Given the description of an element on the screen output the (x, y) to click on. 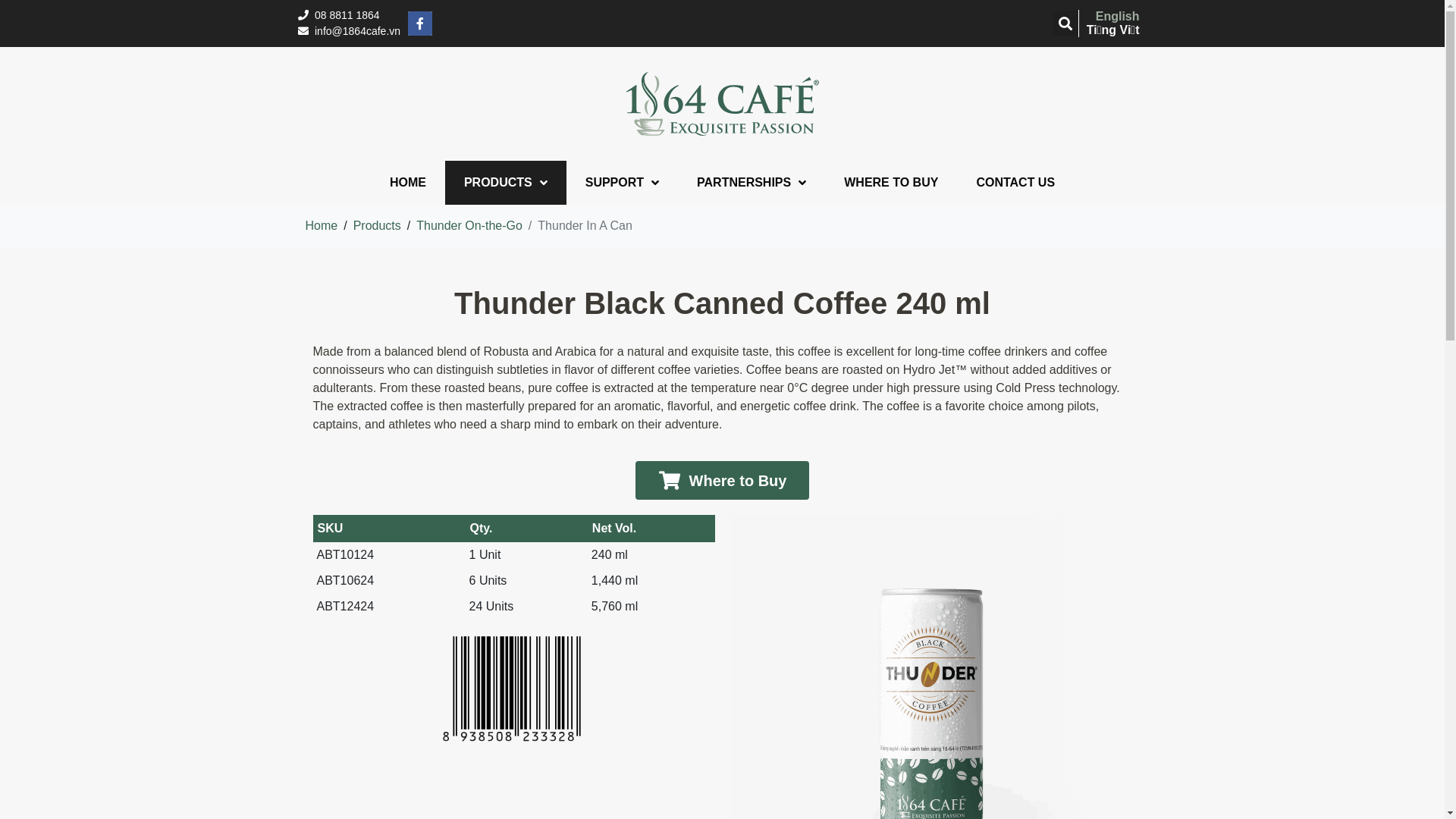
HOME Element type: text (407, 182)
PRODUCTS Element type: text (505, 182)
Where to Buy Element type: text (722, 480)
Thunder On-the-Go Element type: text (469, 225)
English Element type: text (1113, 16)
08 8811 1864 Element type: text (348, 15)
PARTNERSHIPS Element type: text (751, 182)
WHERE TO BUY Element type: text (891, 182)
SUPPORT Element type: text (621, 182)
Products Element type: text (377, 225)
CONTACT US Element type: text (1015, 182)
Home Element type: text (320, 225)
info@1864cafe.vn Element type: text (348, 31)
